Given the description of an element on the screen output the (x, y) to click on. 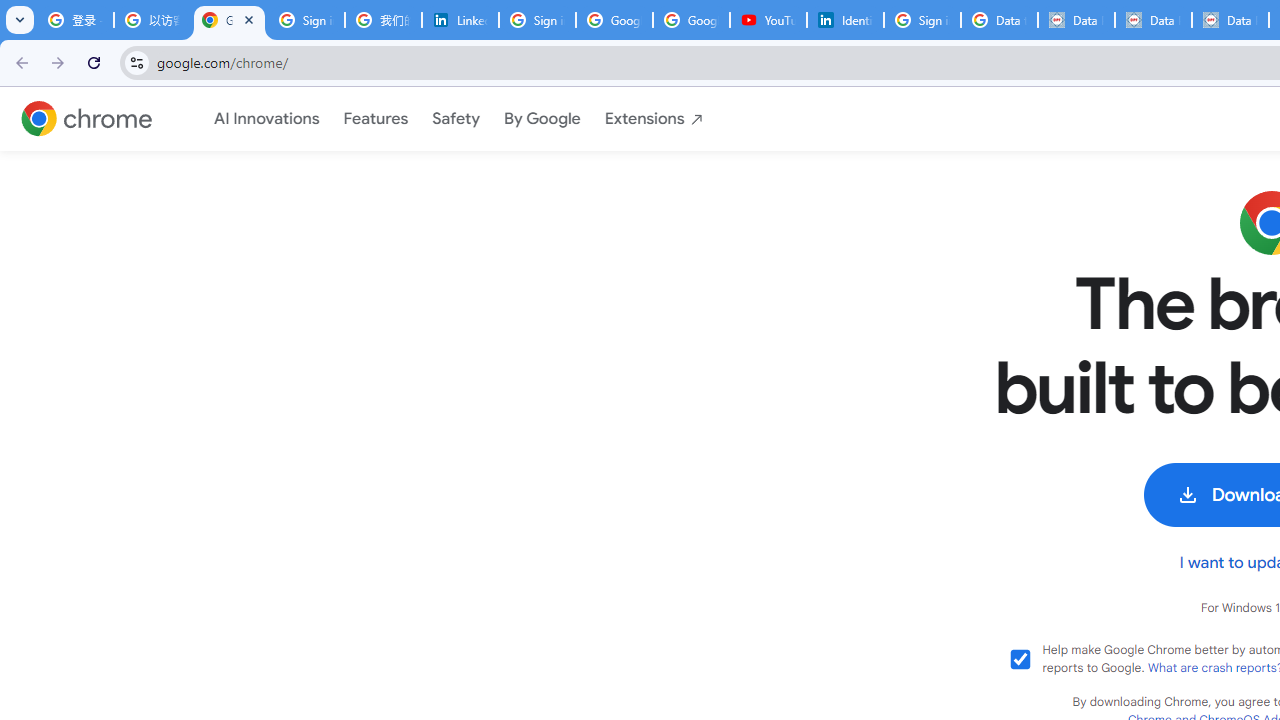
Data Privacy Framework (1152, 20)
Sign in - Google Accounts (922, 20)
By Google (541, 119)
icon chrome logo (86, 119)
Jump to content (203, 157)
Sign in - Google Accounts (537, 20)
